Given the description of an element on the screen output the (x, y) to click on. 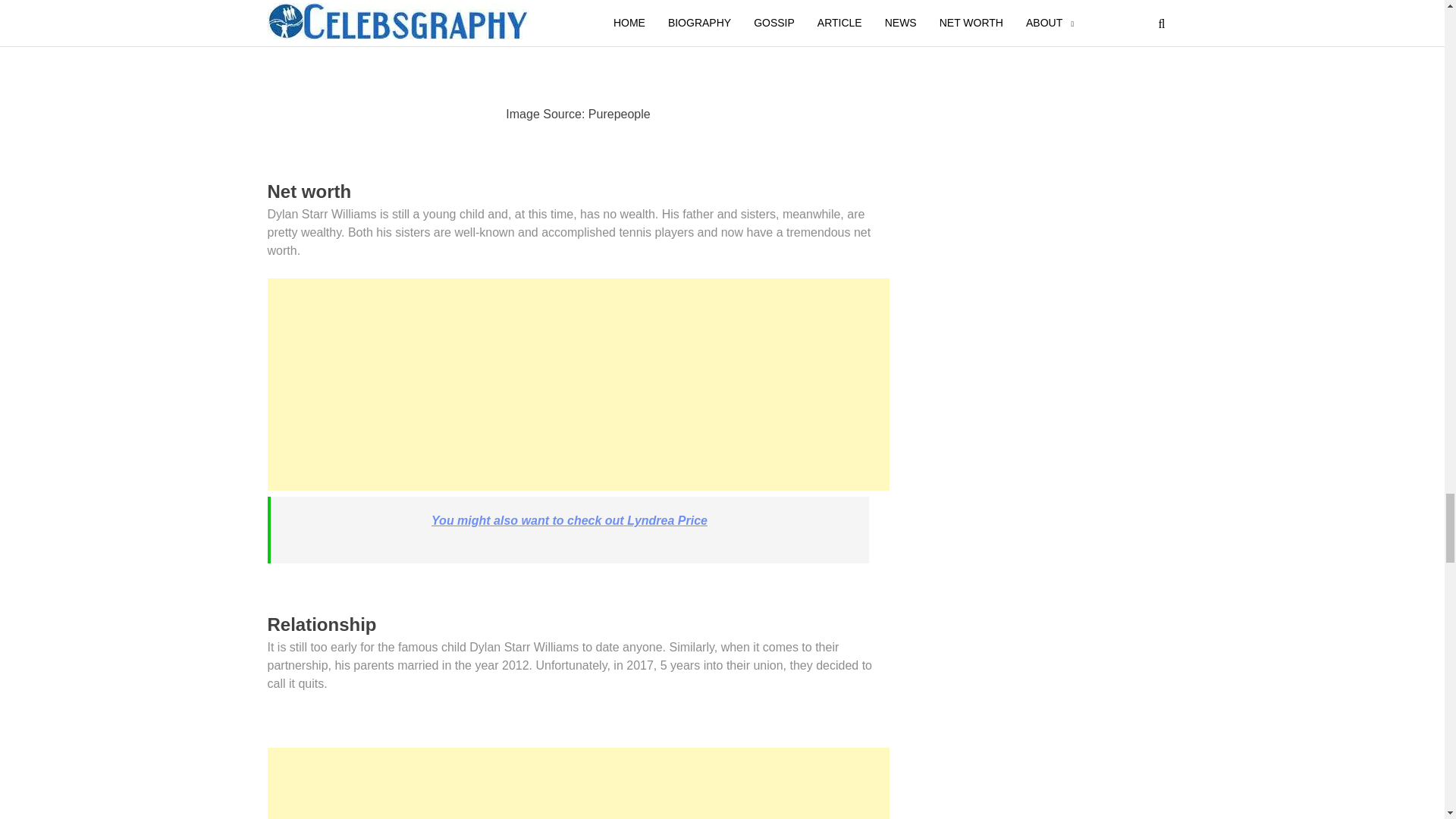
You might also want to check out Lyndrea Price (568, 520)
